Given the description of an element on the screen output the (x, y) to click on. 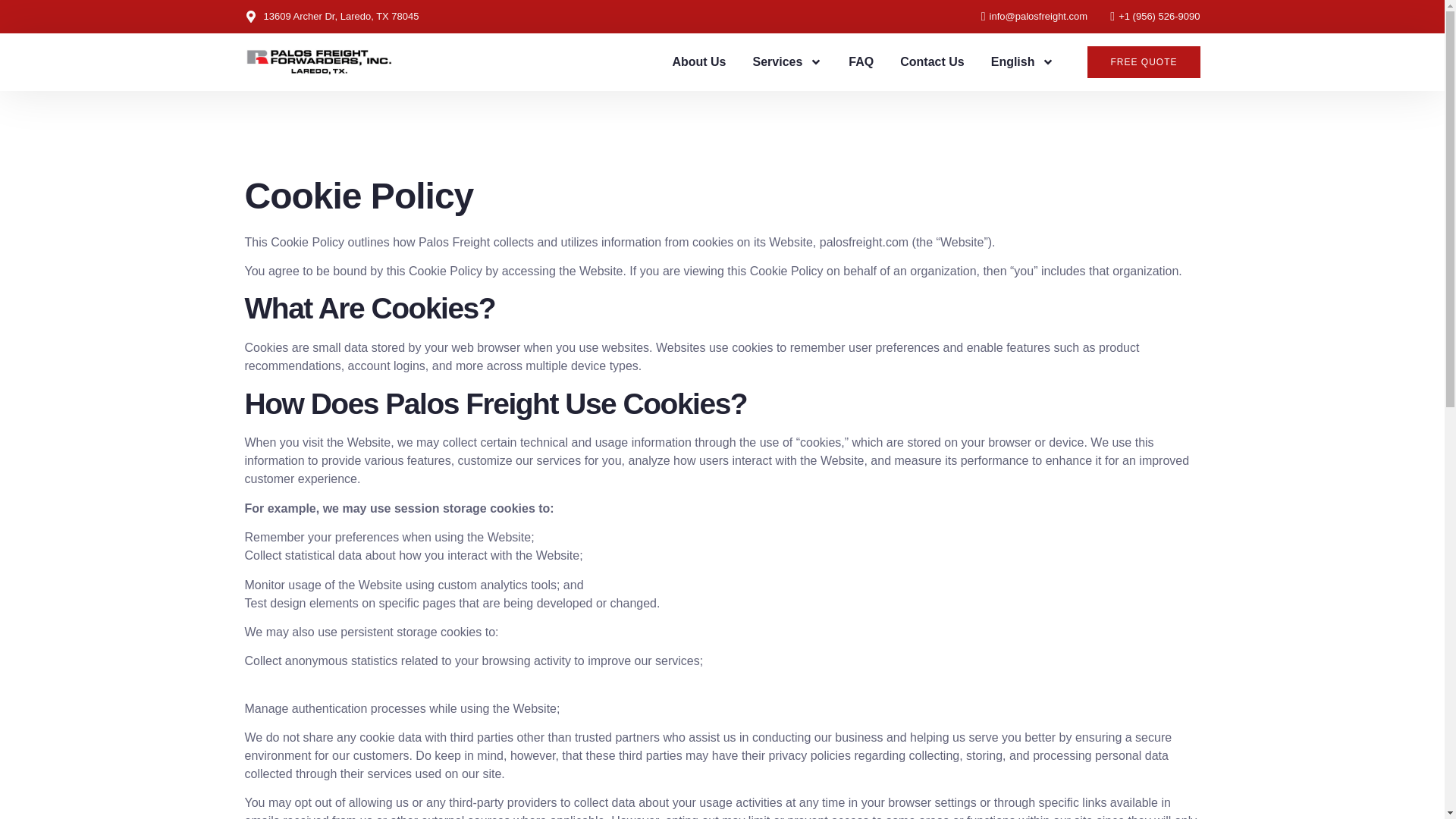
Services (787, 61)
FREE QUOTE (1143, 61)
English (1022, 61)
English (1022, 61)
Contact Us (931, 61)
About Us (698, 61)
